Given the description of an element on the screen output the (x, y) to click on. 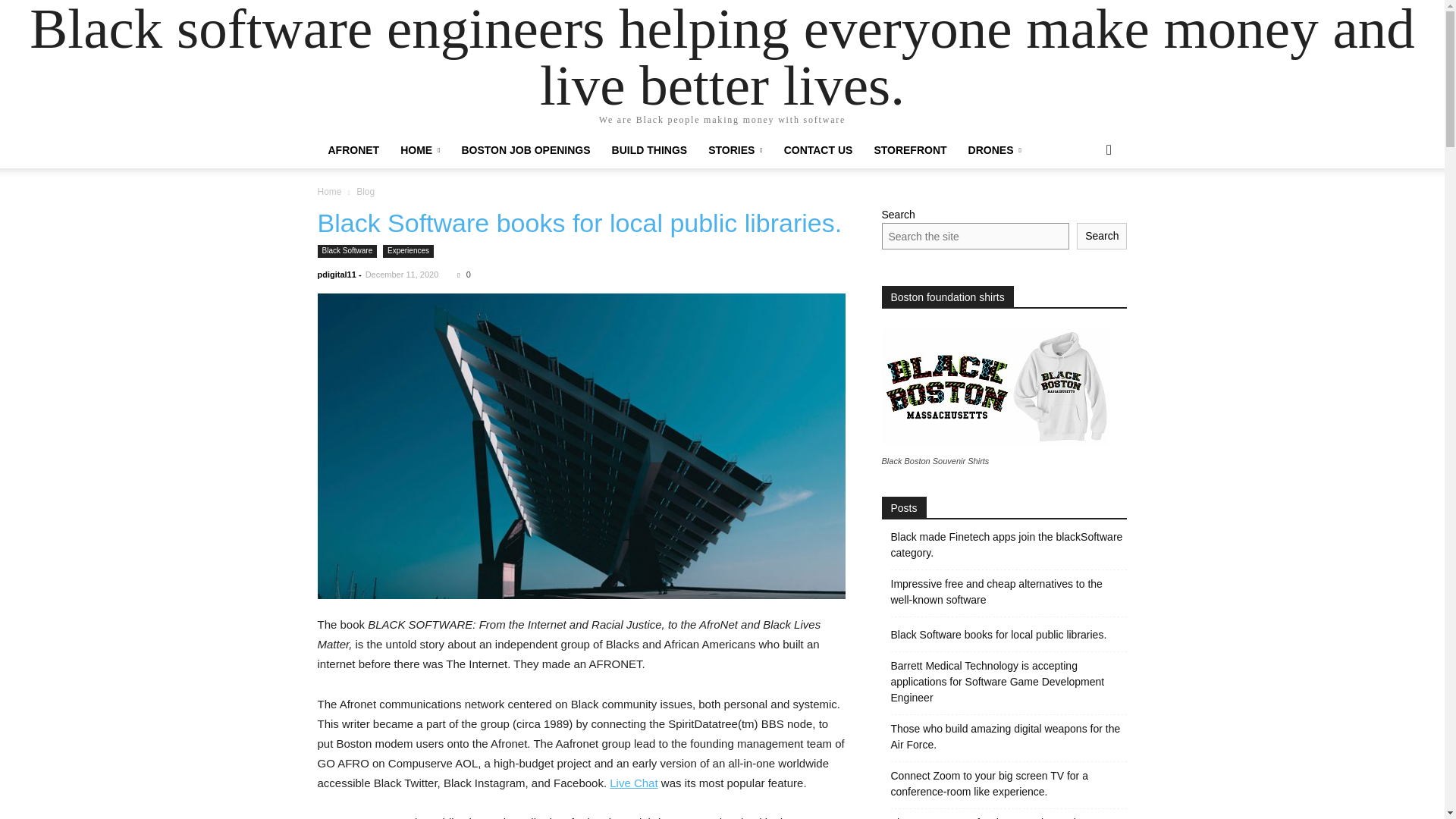
AFRONET (353, 150)
STOREFRONT (909, 150)
STORIES (735, 150)
BUILD THINGS (649, 150)
CONTACT US (818, 150)
BOSTON JOB OPENINGS (524, 150)
Black Software books for local public libraries. (579, 222)
HOME (419, 150)
DRONES (995, 150)
